Given the description of an element on the screen output the (x, y) to click on. 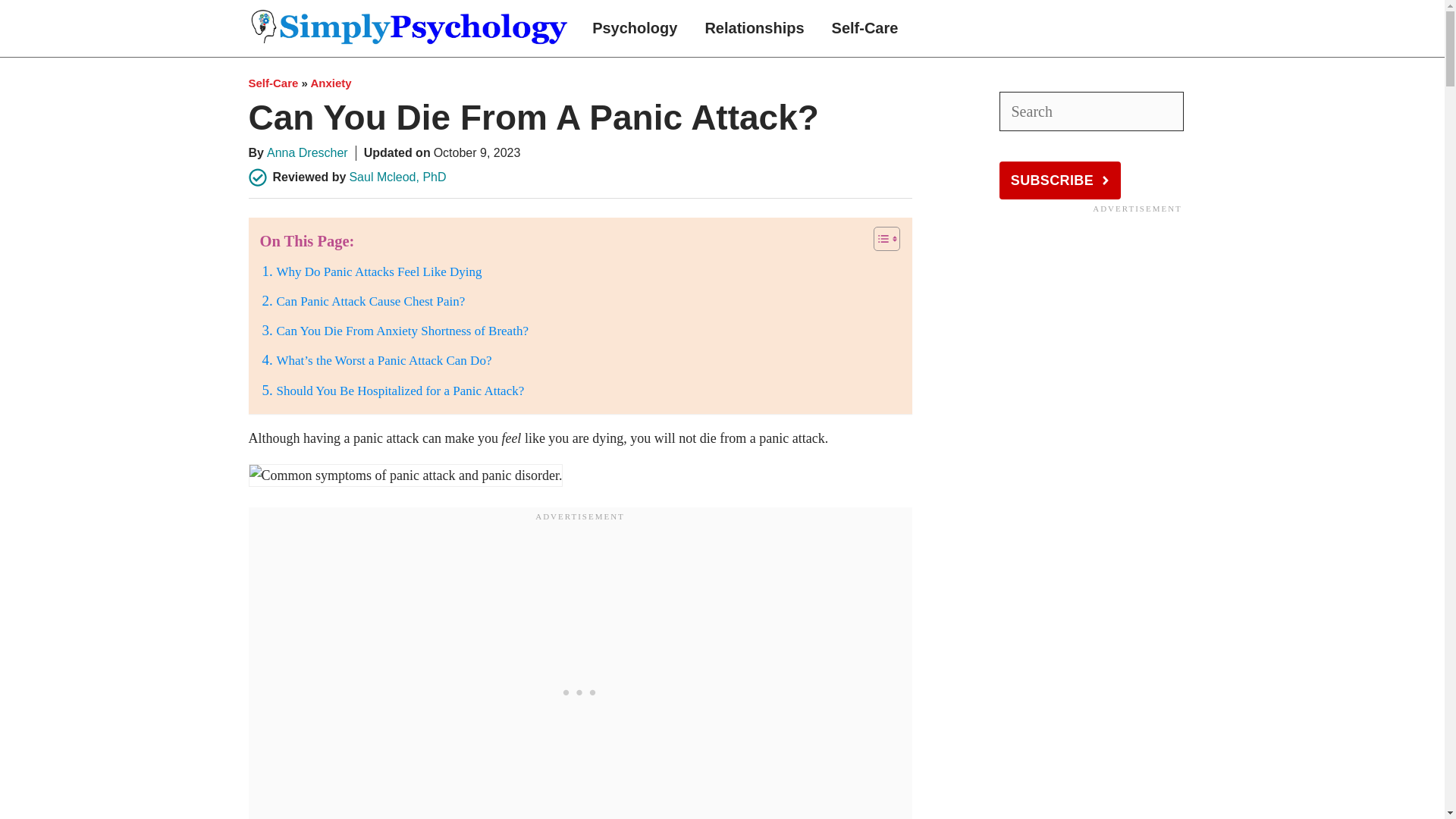
Relationships (753, 28)
Anxiety (330, 82)
Can You Die From a Panic Attack? 1 (405, 475)
Should You Be Hospitalized for a Panic Attack? (400, 390)
Can You Die From Anxiety Shortness of Breath? (401, 330)
Simply Psychology (410, 28)
Why Do Panic Attacks Feel Like Dying (378, 271)
Anna Drescher (306, 152)
Why Do Panic Attacks Feel Like Dying (378, 271)
Self-Care (865, 28)
Self-Care (273, 82)
Should You Be Hospitalized for a Panic Attack? (400, 390)
Saul Mcleod, PhD (397, 176)
Psychology (634, 28)
